Given the description of an element on the screen output the (x, y) to click on. 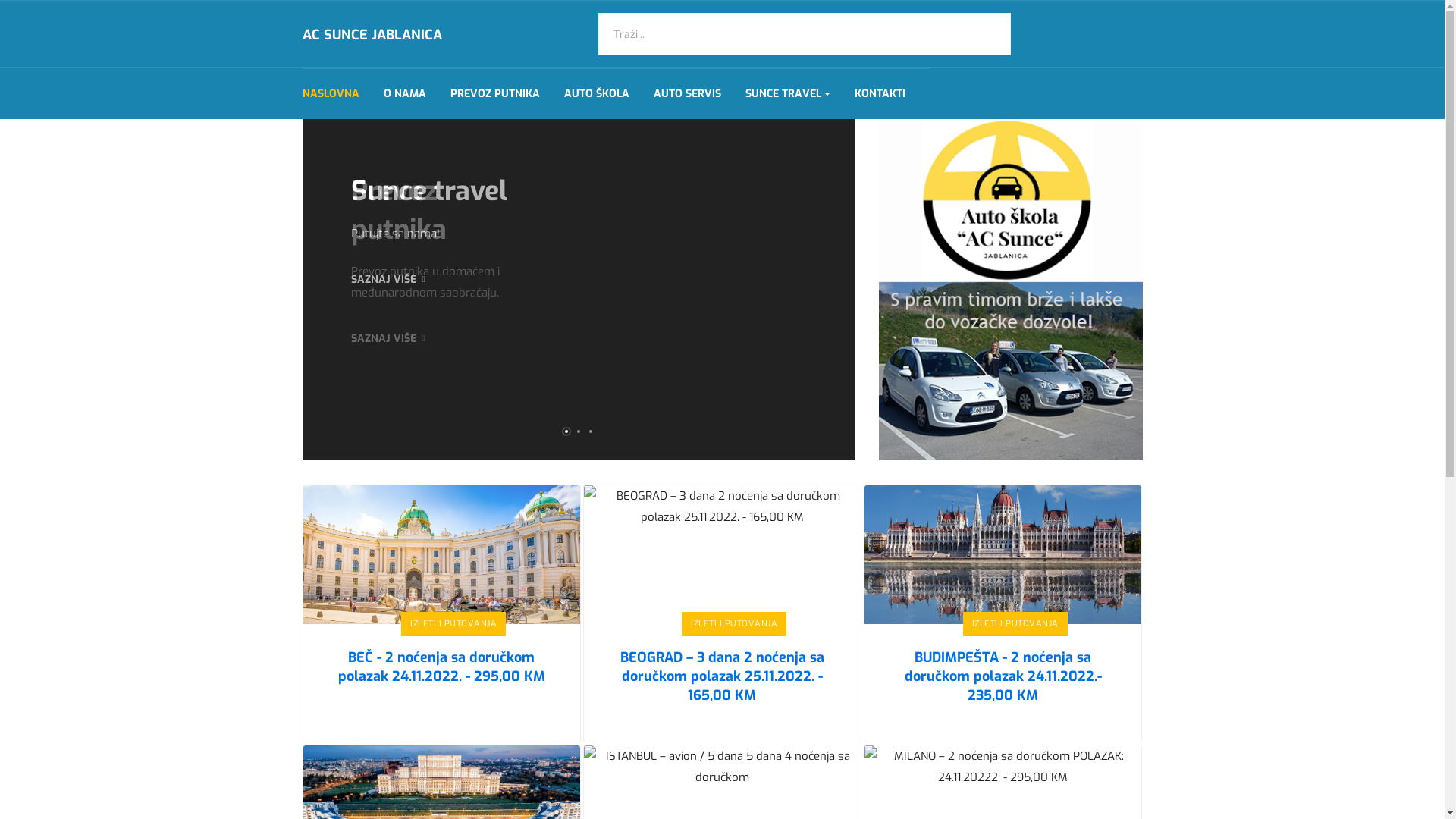
KONTAKTI Element type: text (879, 94)
SUNCE TRAVEL Element type: text (787, 94)
IZLETI I PUTOVANJA Element type: text (733, 623)
AC SUNCE JABLANICA Element type: text (371, 34)
AUTO SERVIS Element type: text (687, 94)
NASLOVNA Element type: text (329, 94)
PREVOZ PUTNIKA Element type: text (494, 94)
IZLETI I PUTOVANJA Element type: text (1015, 623)
O NAMA Element type: text (404, 94)
IZLETI I PUTOVANJA Element type: text (453, 623)
